Given the description of an element on the screen output the (x, y) to click on. 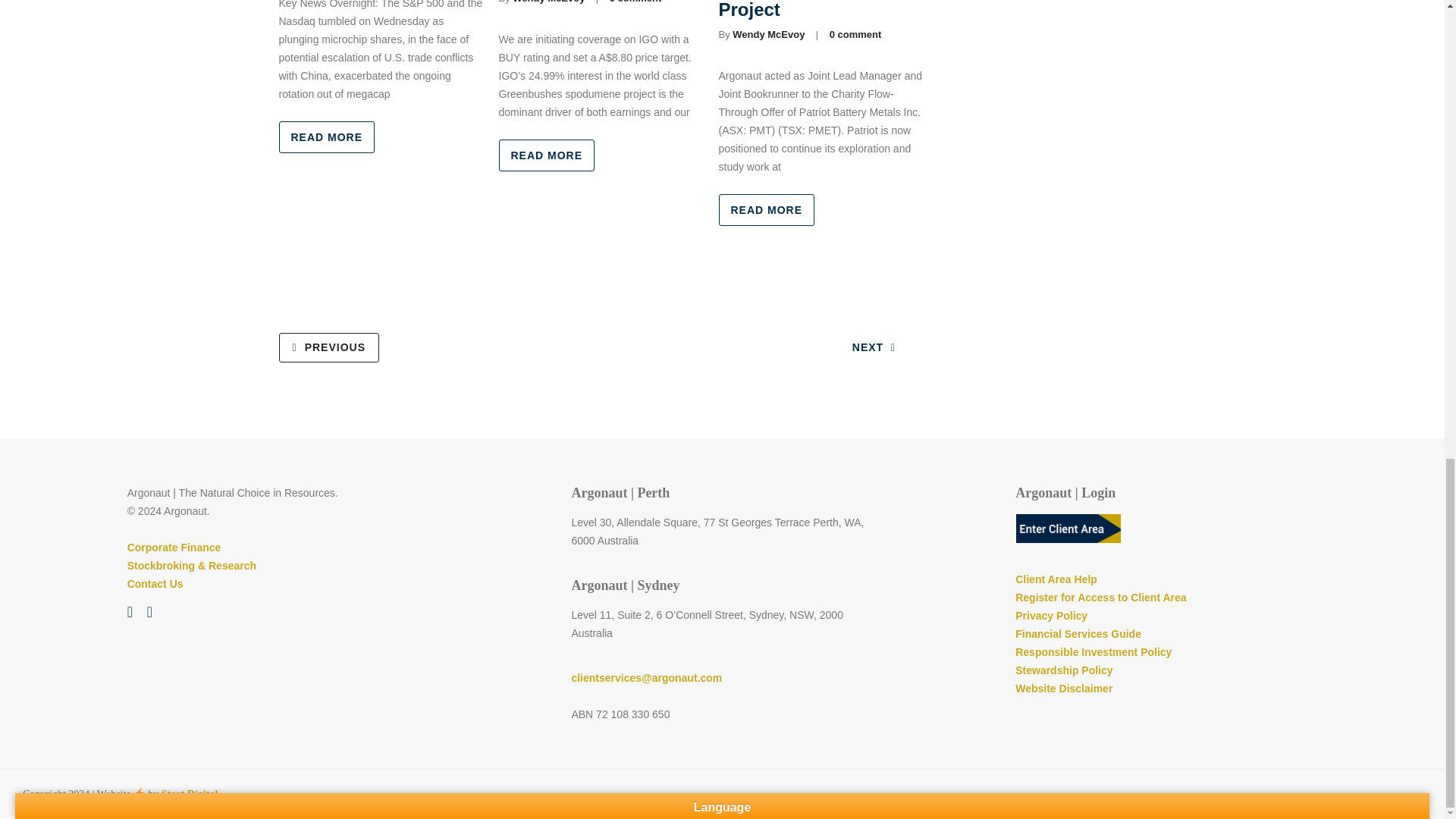
Posts by Wendy McEvoy (768, 34)
Posts by Wendy McEvoy (548, 2)
